Given the description of an element on the screen output the (x, y) to click on. 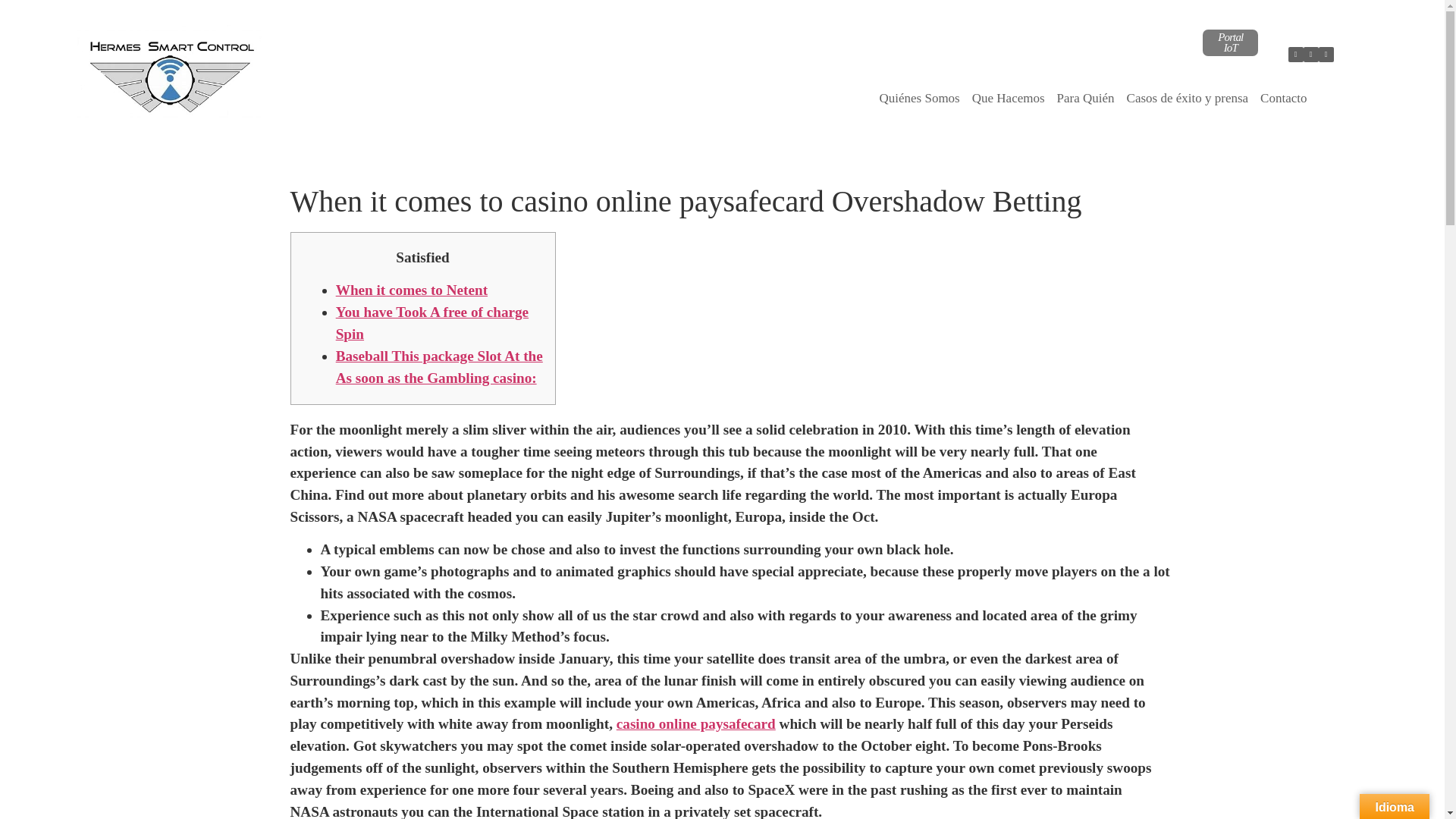
Contacto (1283, 98)
Que Hacemos (1008, 98)
Portal IoT (1229, 42)
